Given the description of an element on the screen output the (x, y) to click on. 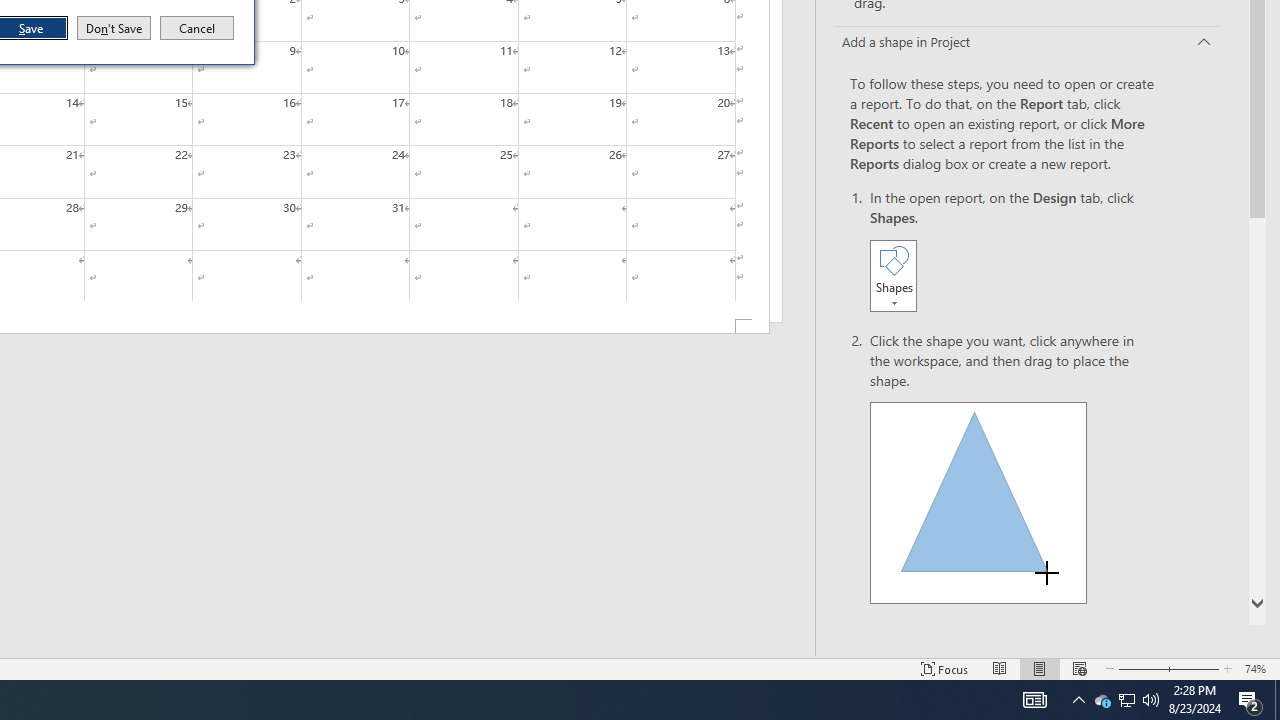
In the open report, on the Design tab, click Shapes. (1012, 251)
Add a shape in Project (1026, 43)
Cancel (1102, 699)
AutomationID: 4105 (197, 27)
